Given the description of an element on the screen output the (x, y) to click on. 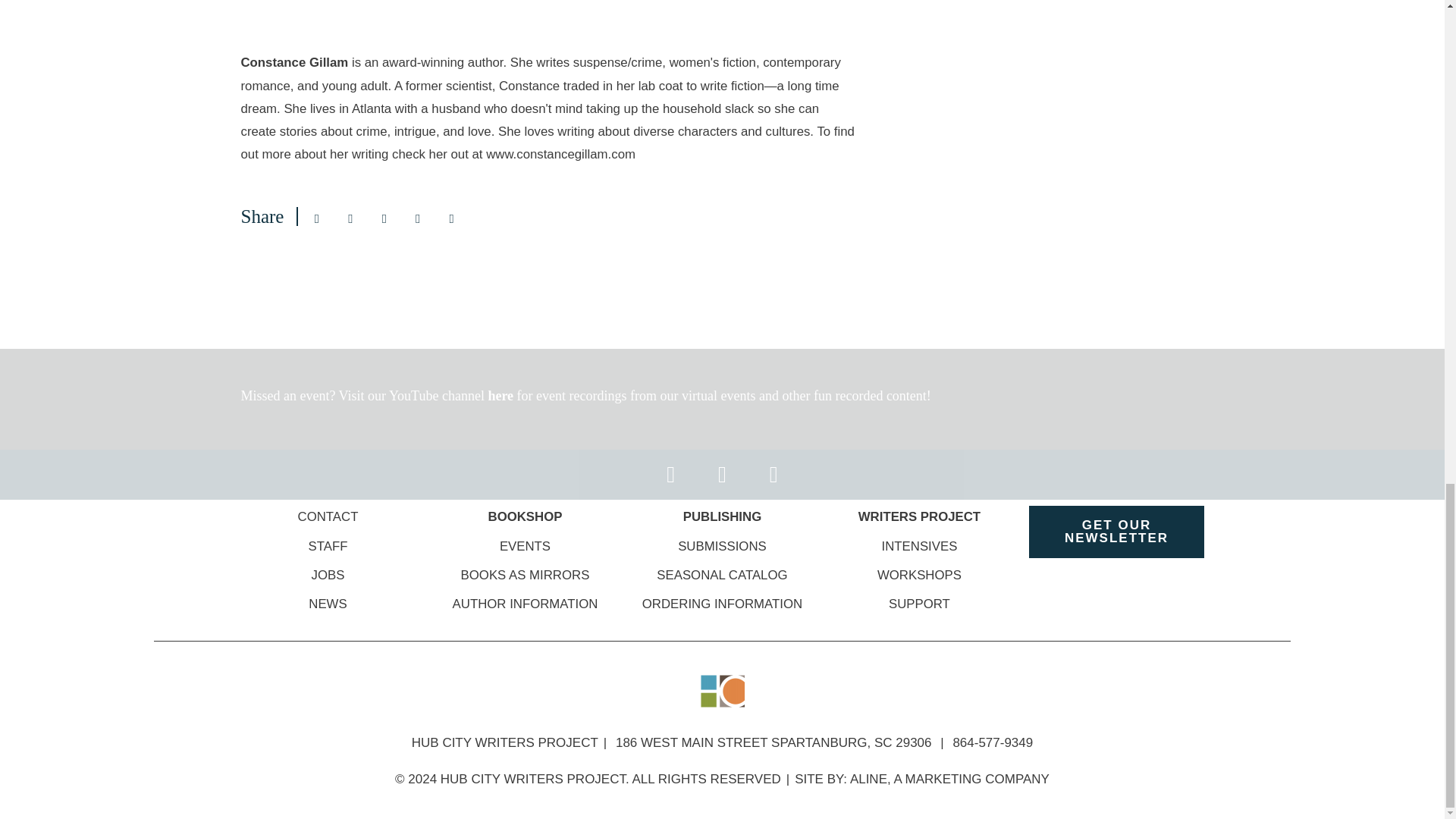
Share on tumblr (451, 218)
Share on pinterest (417, 218)
YouTube (415, 395)
Share on email (316, 218)
BOOKS AS MIRRORS (525, 575)
AUTHOR INFORMATION (525, 603)
STAFF (327, 545)
CONTACT (328, 516)
here (501, 395)
NEWS (327, 603)
